Given the description of an element on the screen output the (x, y) to click on. 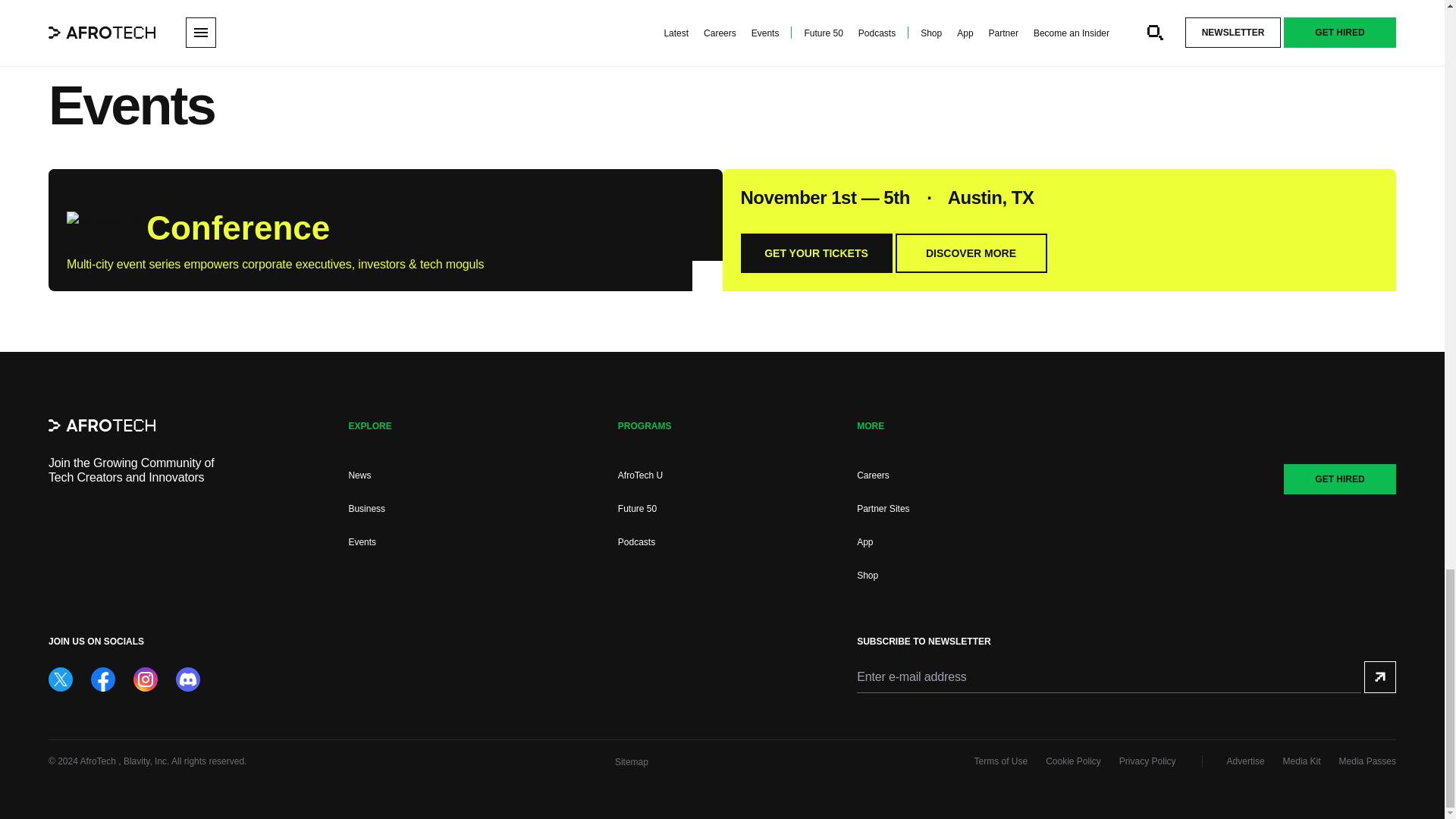
GET YOUR TICKETS (815, 252)
AfroTech U (639, 475)
conference (102, 225)
Events (361, 542)
DISCOVER MORE (970, 252)
Future 50 (636, 508)
Business (366, 508)
News (359, 475)
